Given the description of an element on the screen output the (x, y) to click on. 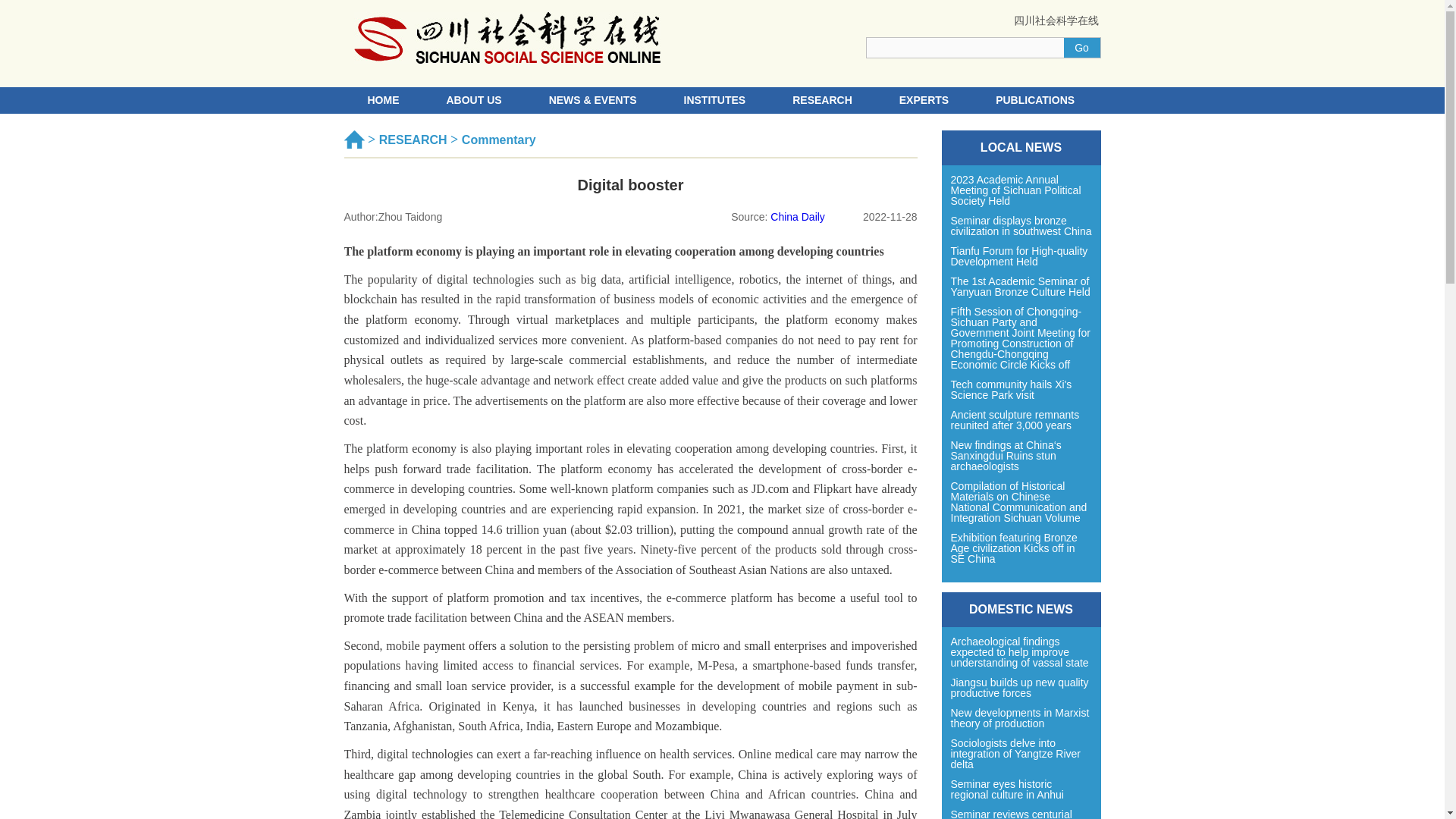
Ancient sculpture remnants reunited after 3,000 years (1021, 419)
Tianfu Forum for High-quality Development Held (1021, 255)
China Daily (797, 216)
PUBLICATIONS (1034, 100)
ABOUT US (472, 100)
Go (1080, 47)
Jiangsu builds up new quality productive forces (1021, 687)
Go (1080, 47)
INSTITUTES (714, 100)
Commentary (498, 139)
LOCAL NEWS (1021, 147)
DOMESTIC NEWS (1021, 609)
